Given the description of an element on the screen output the (x, y) to click on. 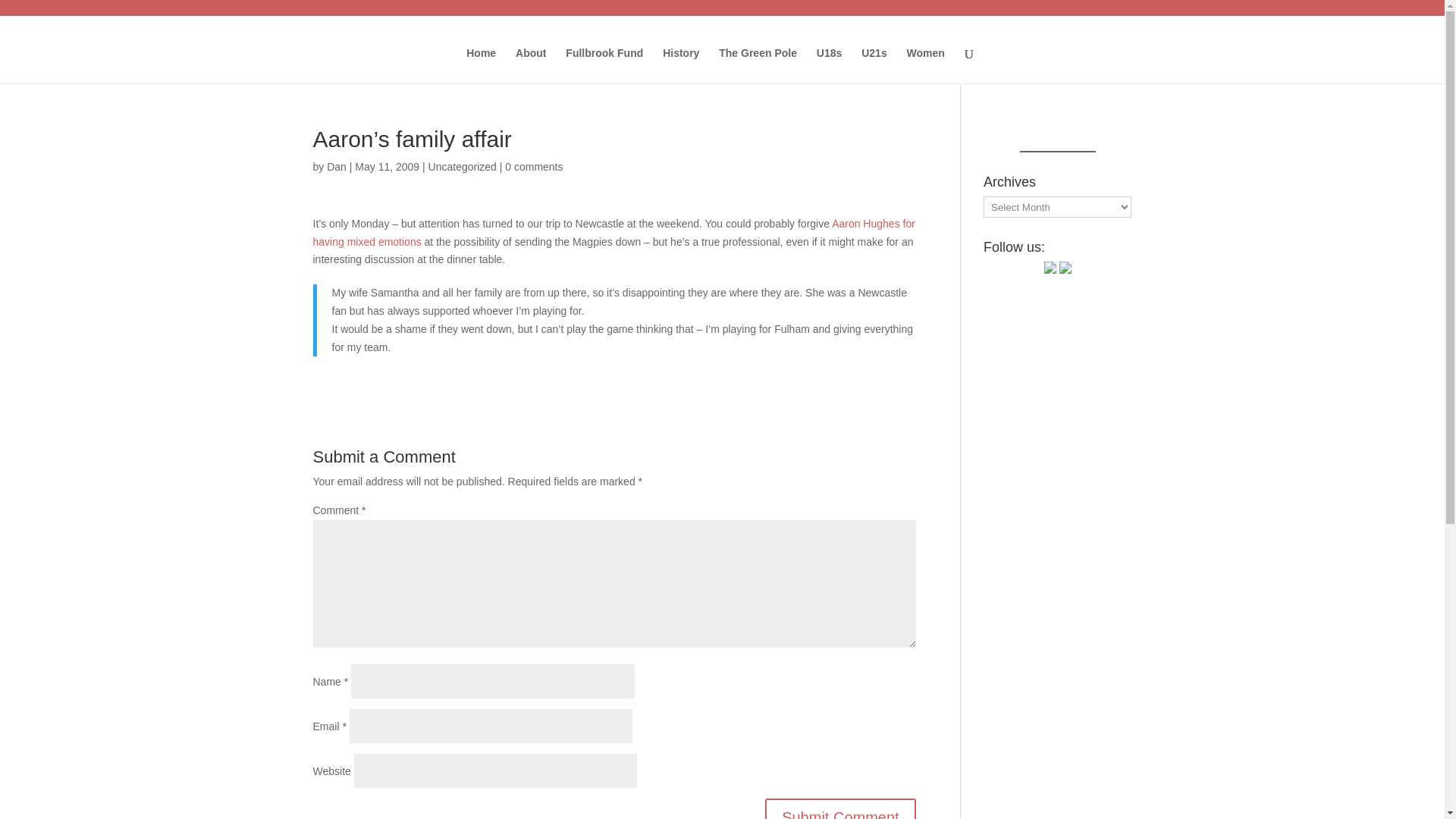
Fullbrook Fund (604, 65)
Posts by Dan (336, 166)
Submit Comment (840, 808)
History (680, 65)
